Given the description of an element on the screen output the (x, y) to click on. 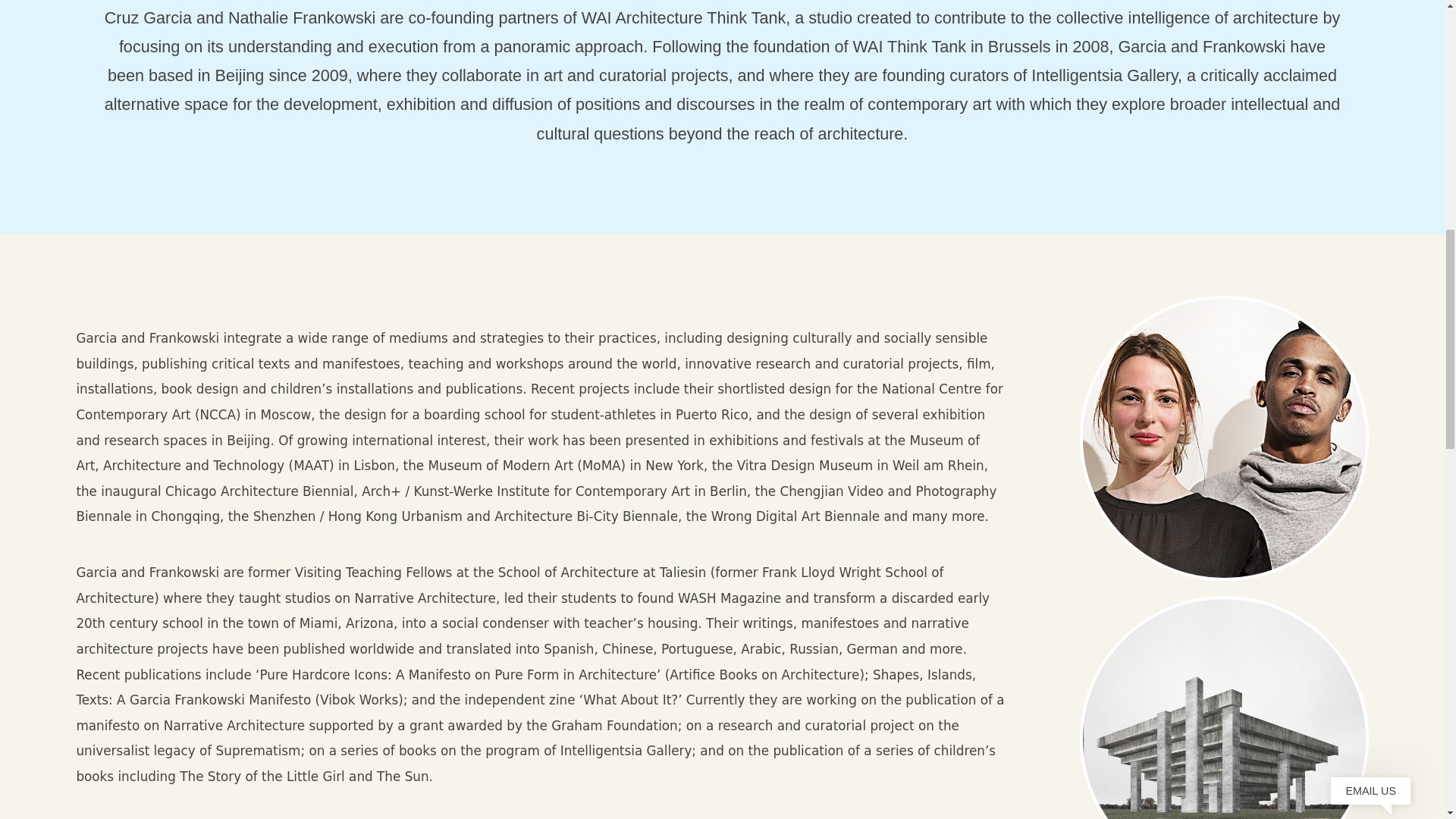
Palace (1224, 707)
